Given the description of an element on the screen output the (x, y) to click on. 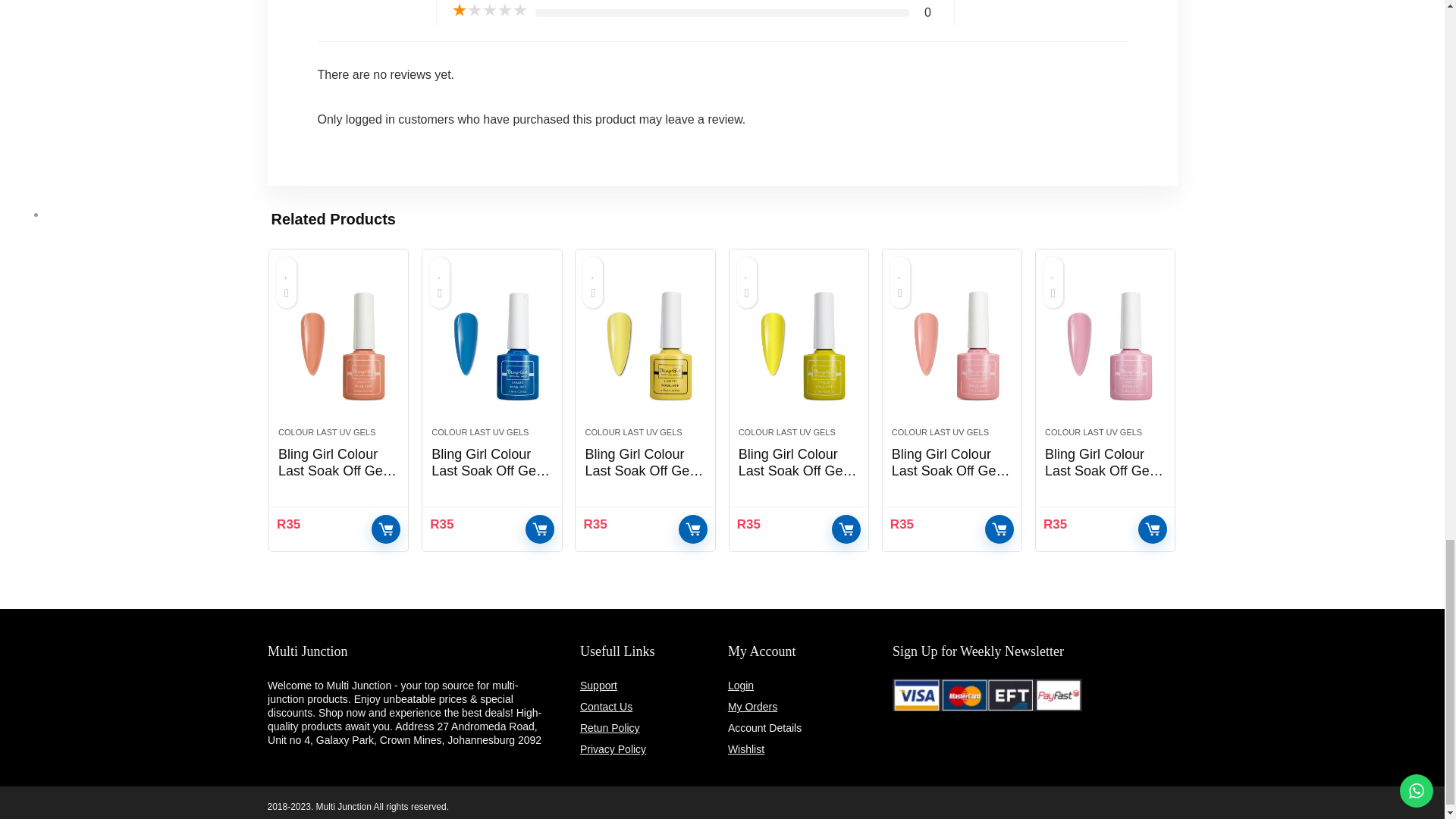
ADD TO CART (385, 529)
Rated 1 out of 5 (489, 10)
COLOUR LAST UV GELS (326, 431)
